Given the description of an element on the screen output the (x, y) to click on. 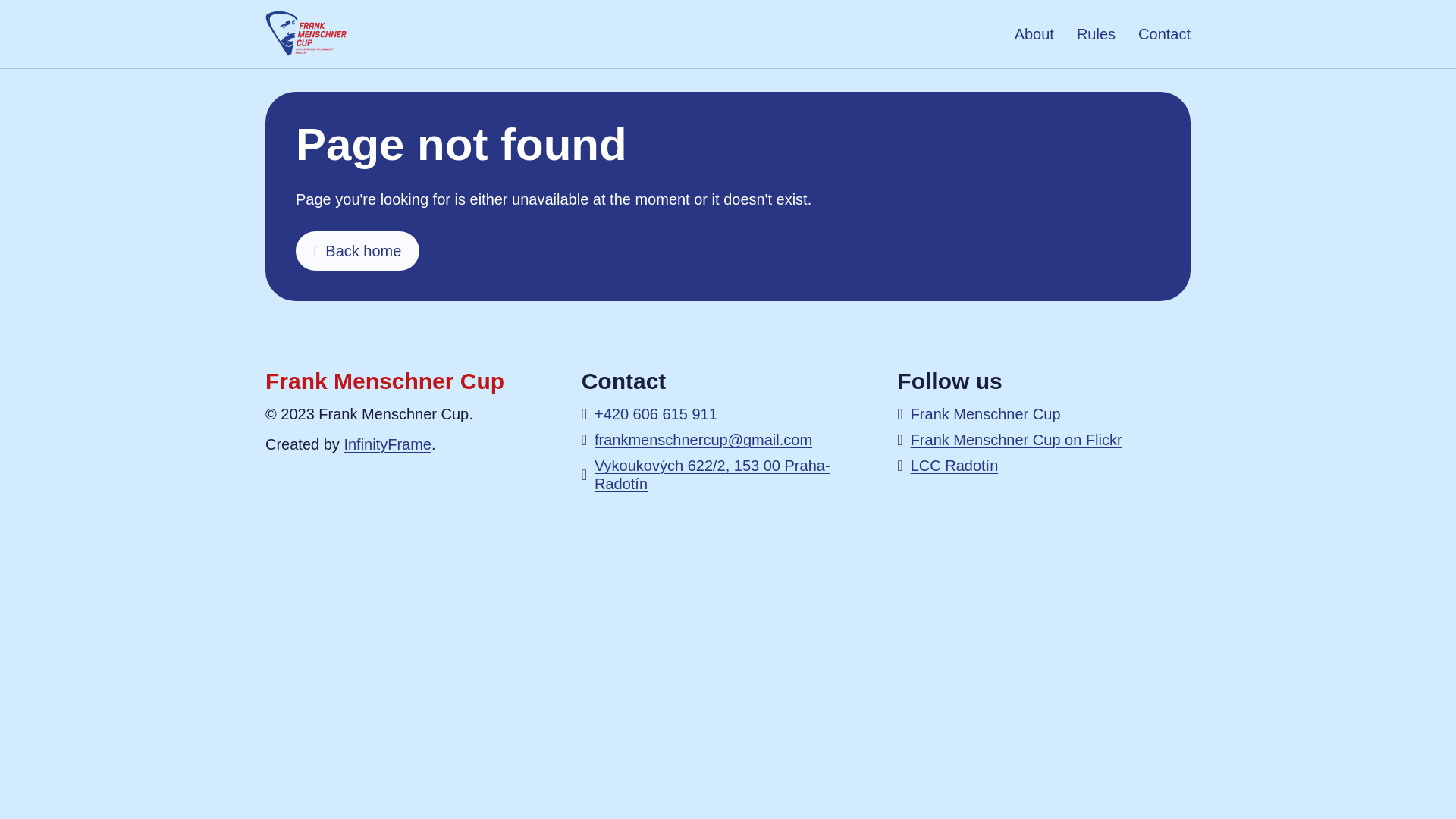
Back home (357, 250)
Frank Menschner Cup (986, 413)
Rules (1096, 33)
Contact (1164, 33)
About (1034, 33)
InfinityFrame (386, 443)
Frank Menschner Cup on Flickr (1016, 439)
